Given the description of an element on the screen output the (x, y) to click on. 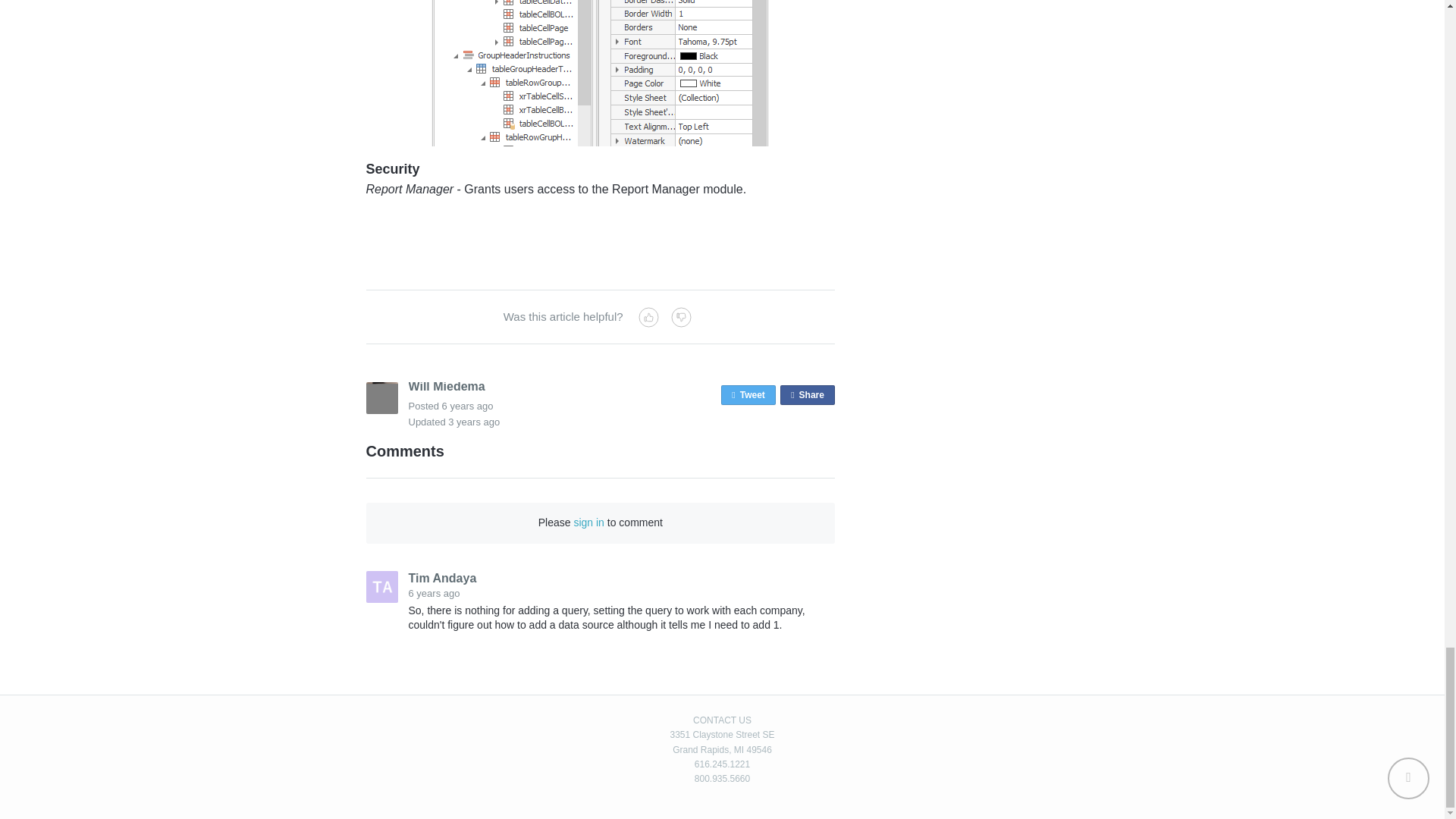
June 28th 2021, 8:07 PM (473, 421)
September 19th 2018, 12:42 AM (807, 394)
Tweet (467, 405)
sign in (748, 394)
January 17th 2019, 4:14 AM (588, 522)
